Given the description of an element on the screen output the (x, y) to click on. 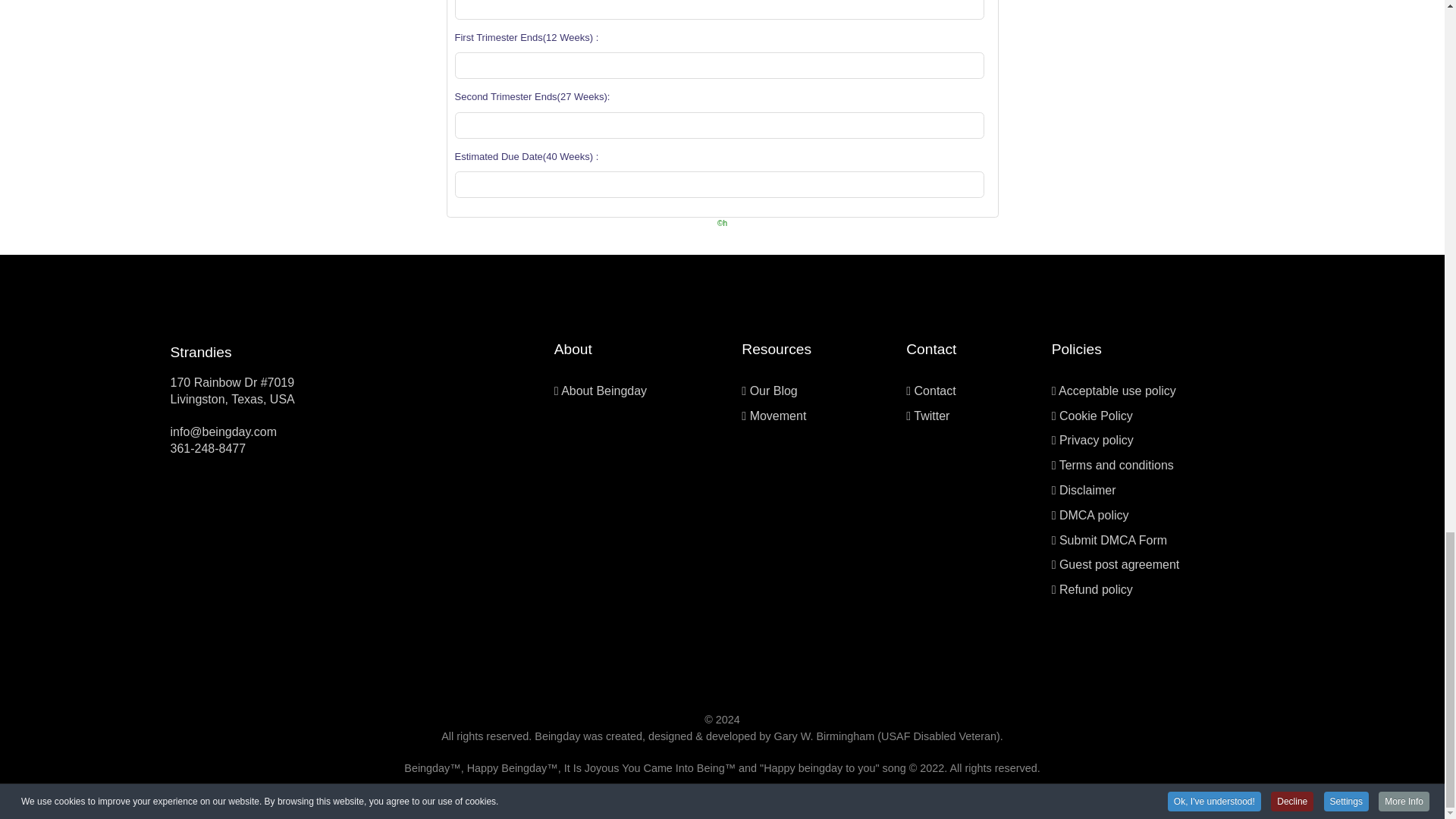
Privacy policy (1096, 440)
Refund policy (1095, 589)
Guest post agreement (1119, 563)
Acceptable use policy (1117, 390)
Submit DMCA Form (1113, 540)
Disclaimer (1087, 490)
Submit DMCA Form (1113, 540)
Contact (935, 390)
Acceptable use policy (1117, 390)
Contact (935, 390)
